Given the description of an element on the screen output the (x, y) to click on. 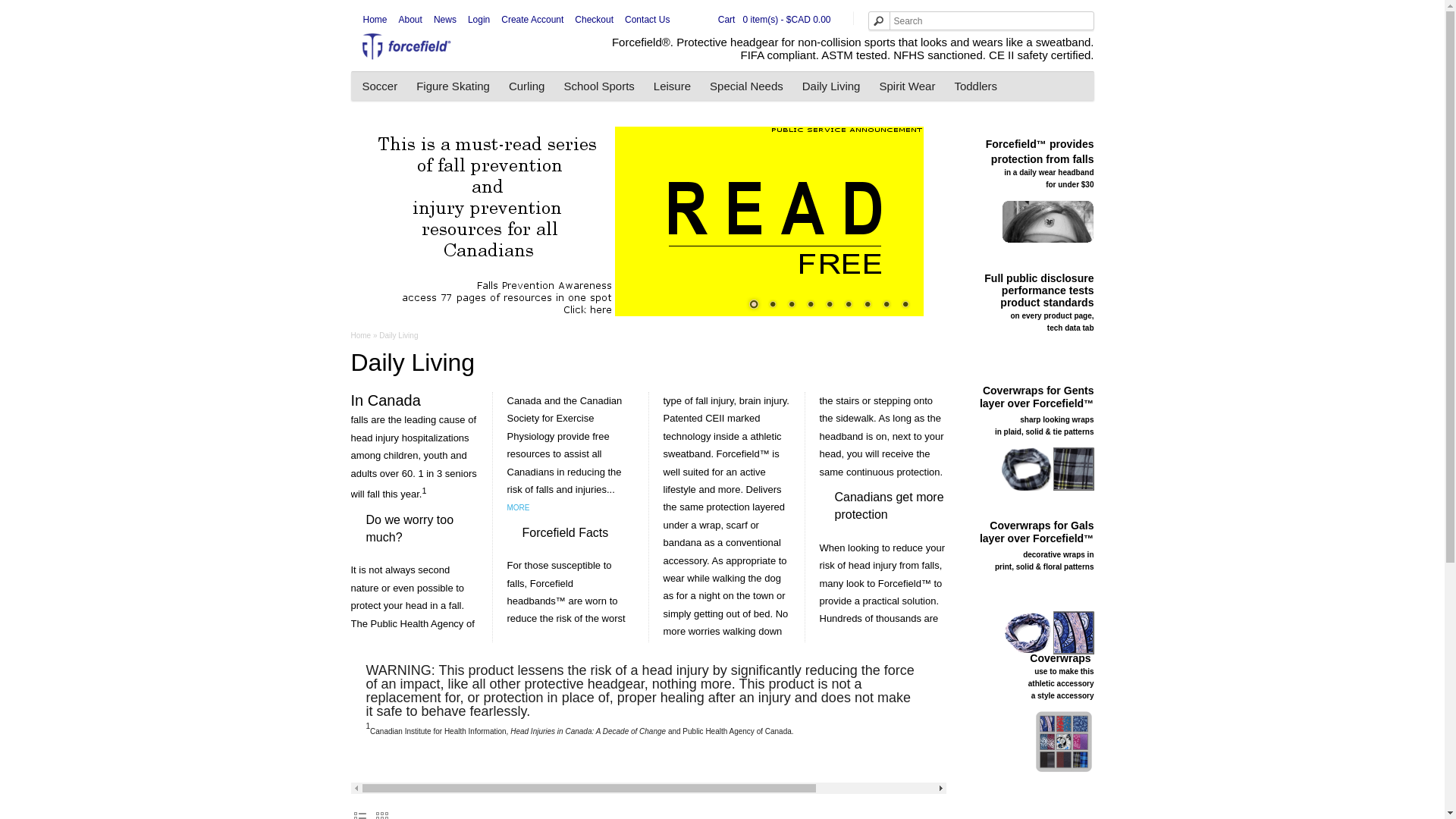
News (442, 19)
Figure Skating (453, 86)
About (407, 19)
Special Needs (745, 86)
School Sports (599, 86)
Login (476, 19)
Leisure (672, 86)
CoverWrap Accessory for Gals (1047, 632)
Toddlers (975, 86)
Checkout (590, 19)
